Given the description of an element on the screen output the (x, y) to click on. 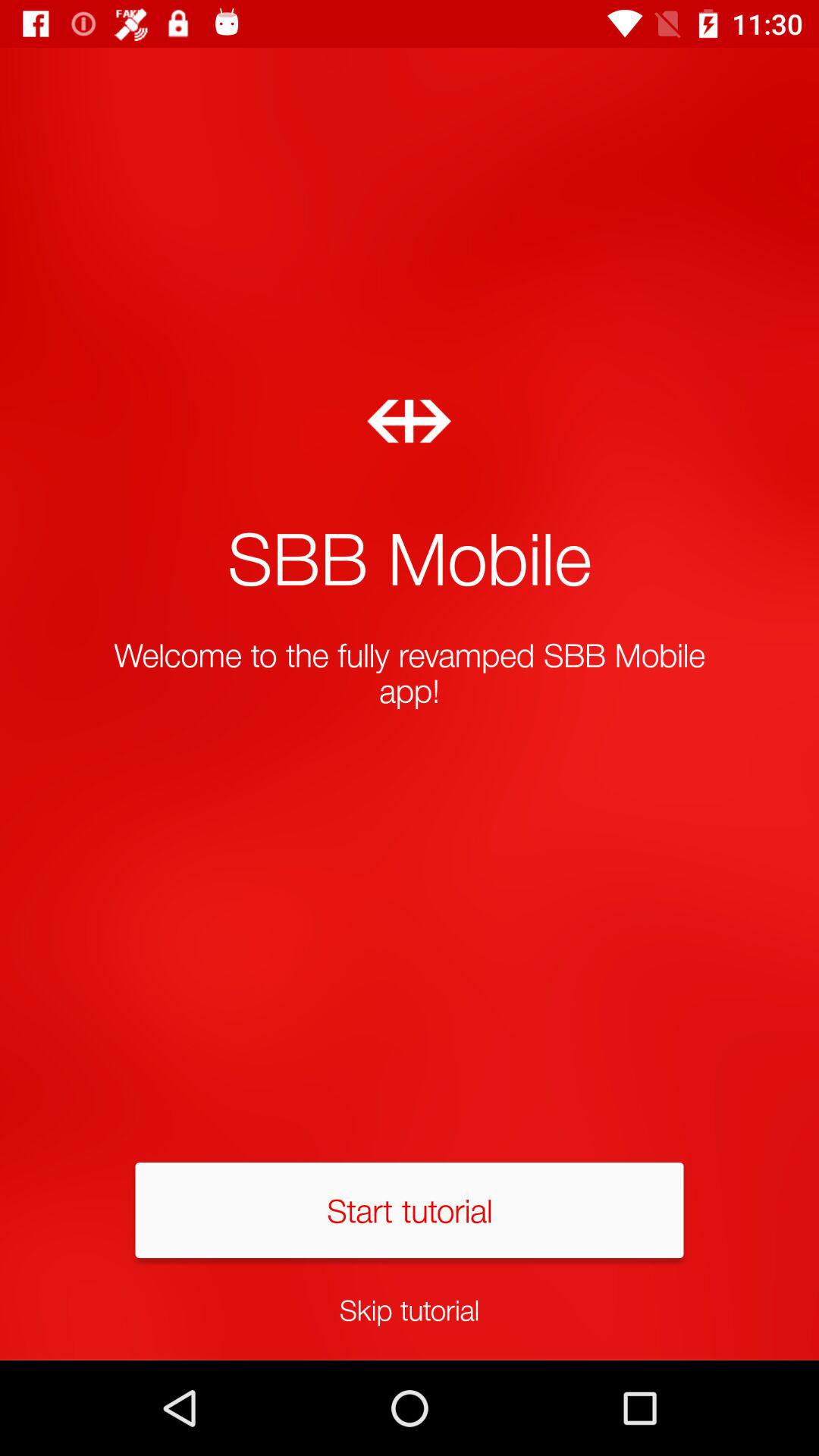
flip until the start tutorial item (409, 1210)
